Given the description of an element on the screen output the (x, y) to click on. 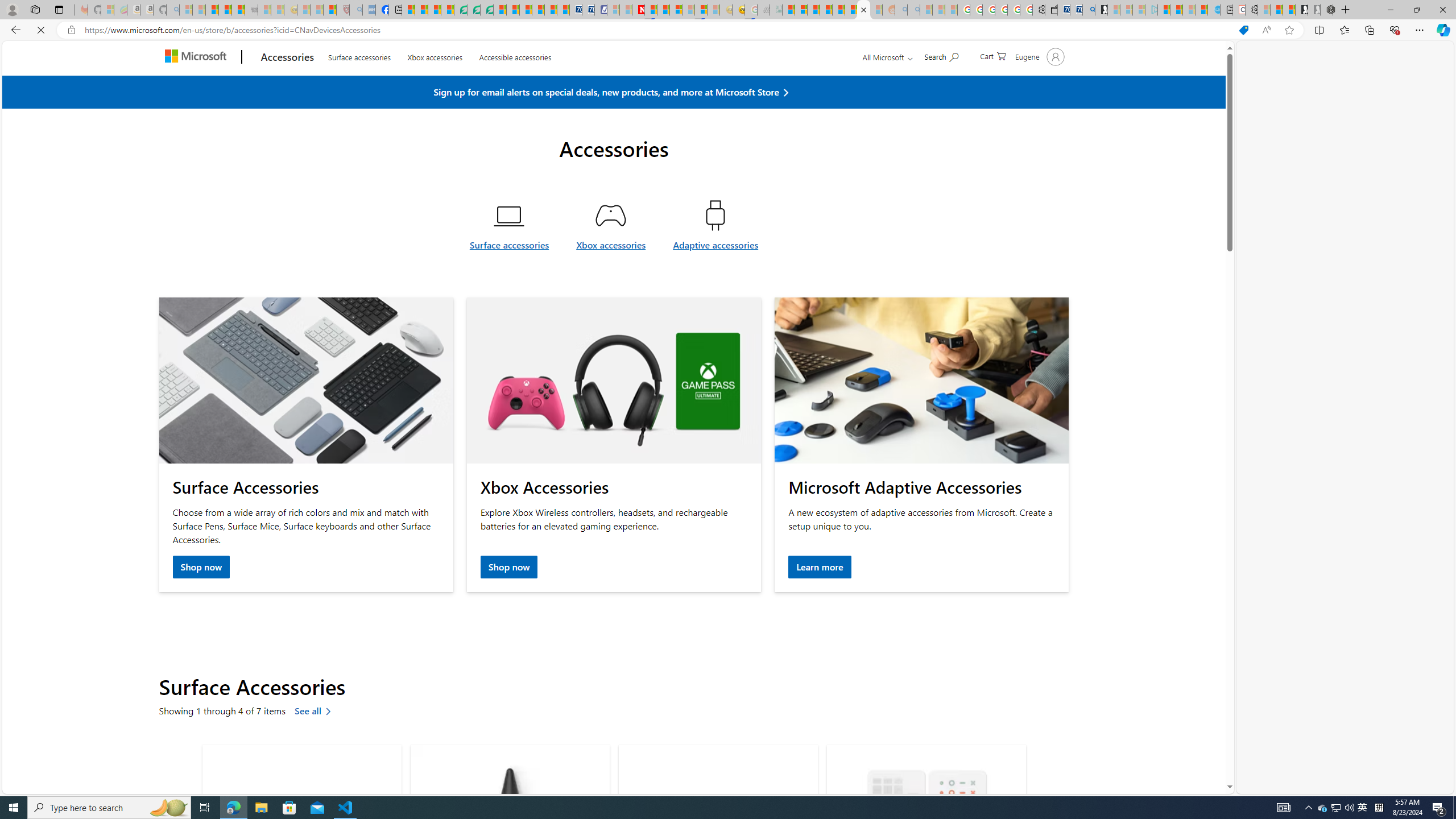
Adaptive accessories (715, 272)
0 items in shopping cart (992, 81)
